Given the description of an element on the screen output the (x, y) to click on. 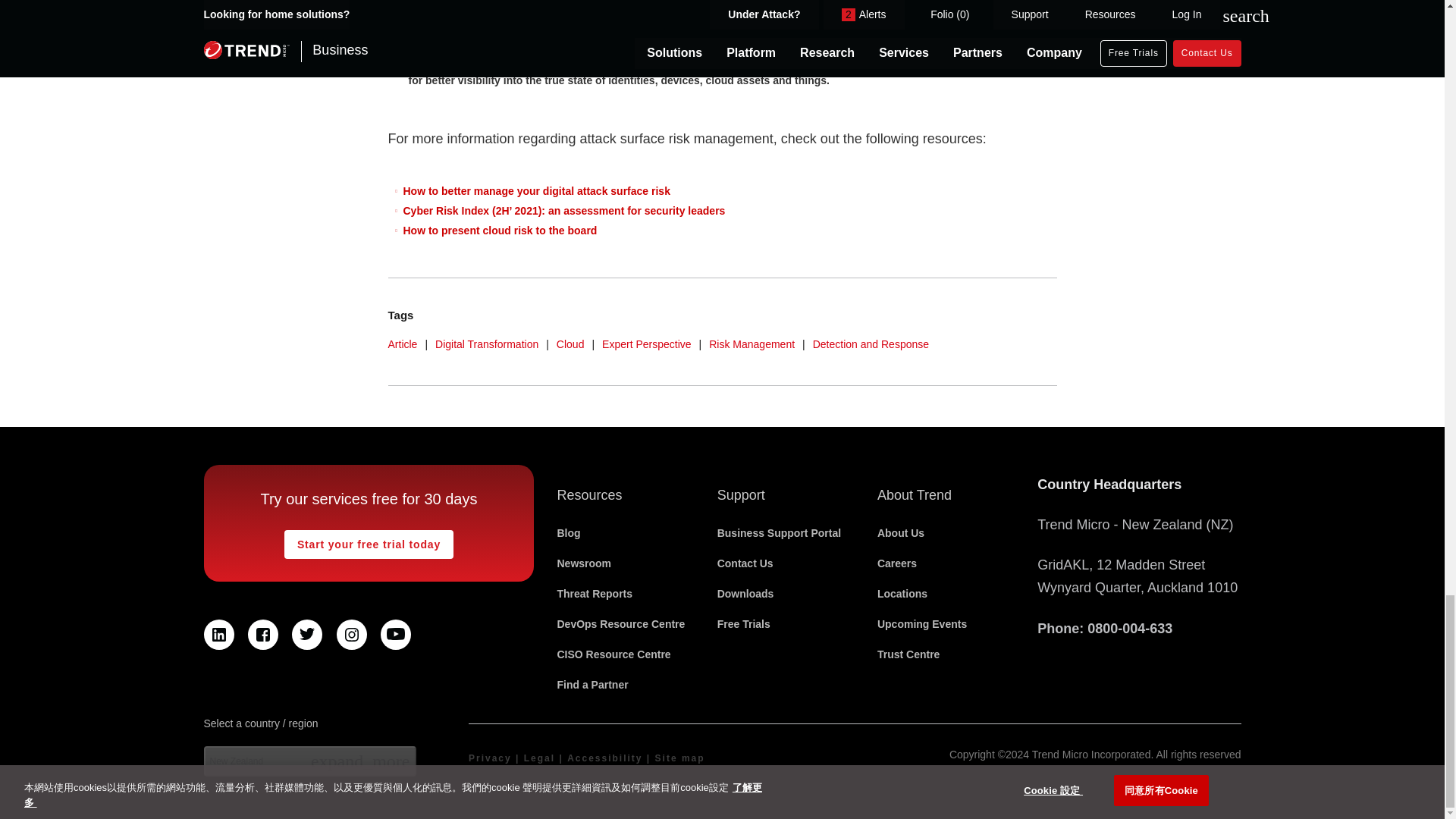
Legal (539, 757)
privacy (490, 757)
Accessibility (604, 757)
Site map (679, 757)
